Given the description of an element on the screen output the (x, y) to click on. 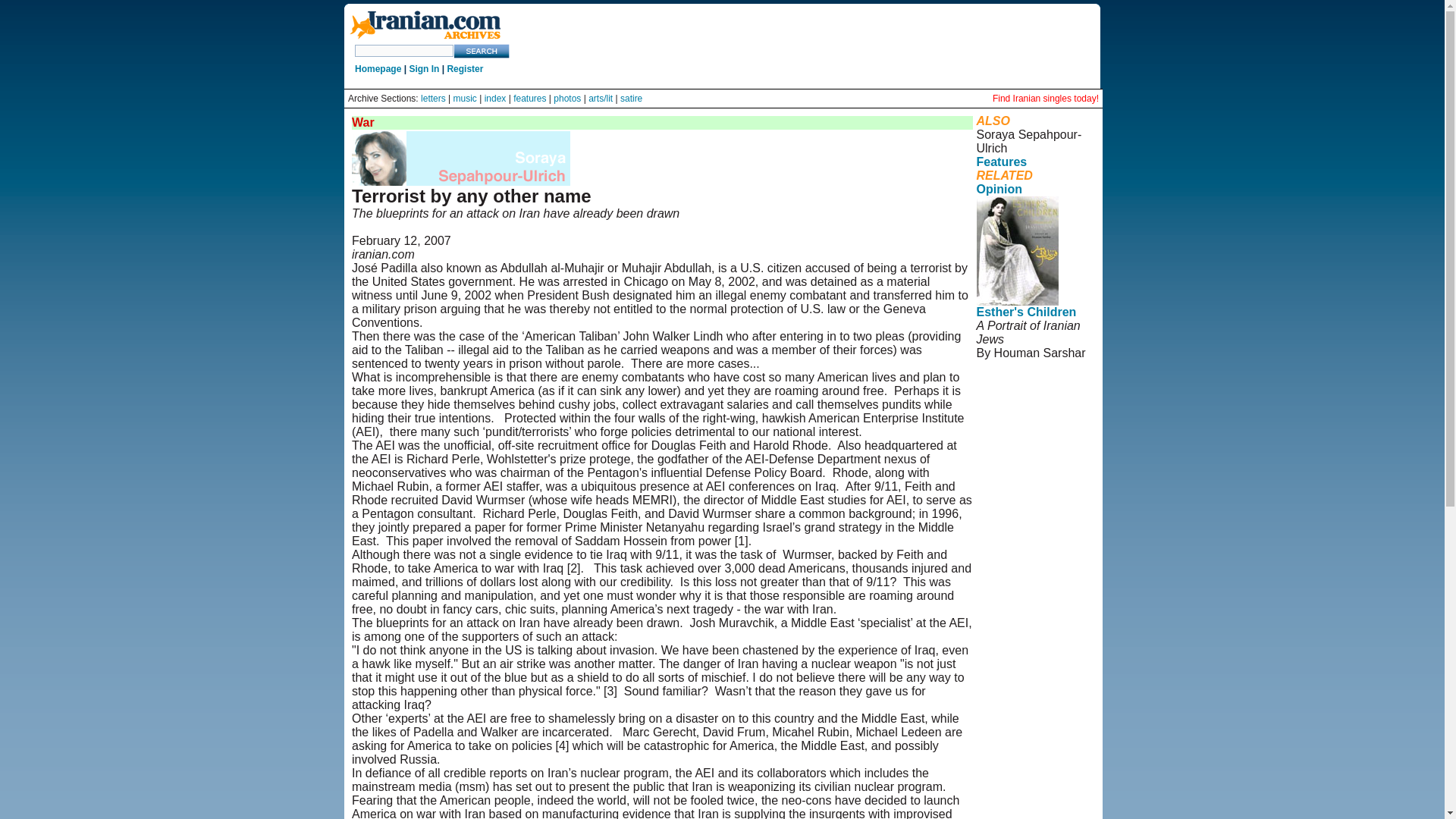
Search this Site (481, 51)
features (529, 98)
Rights and Permissions (1012, 427)
Sign In (424, 68)
Features (1001, 161)
Homepage (378, 68)
satire (631, 98)
Opinion (999, 188)
Home (424, 40)
Home (424, 25)
photos (566, 98)
index (495, 98)
letters (432, 98)
Esther's Children (1026, 311)
User Agreement and Privacy Policy (1026, 400)
